Given the description of an element on the screen output the (x, y) to click on. 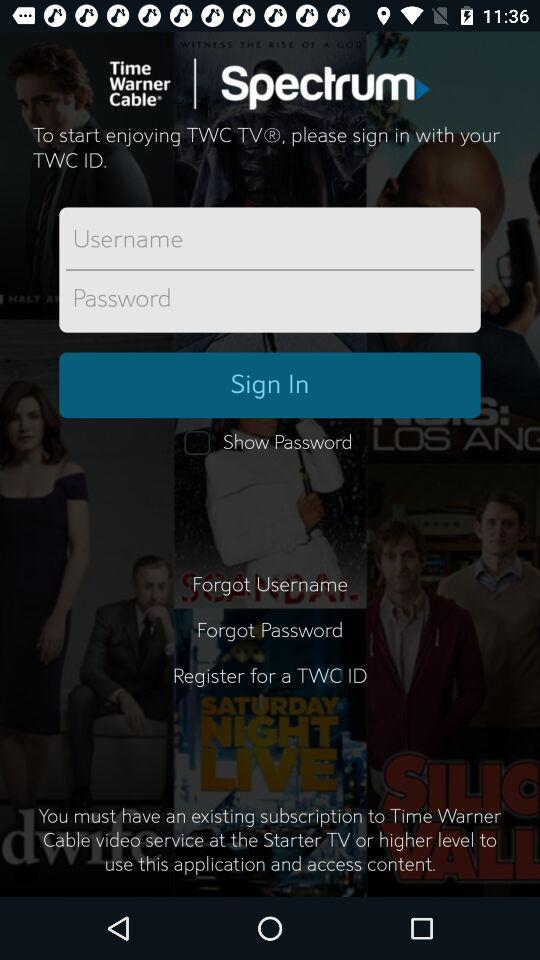
turn off item above forgot password item (270, 584)
